Given the description of an element on the screen output the (x, y) to click on. 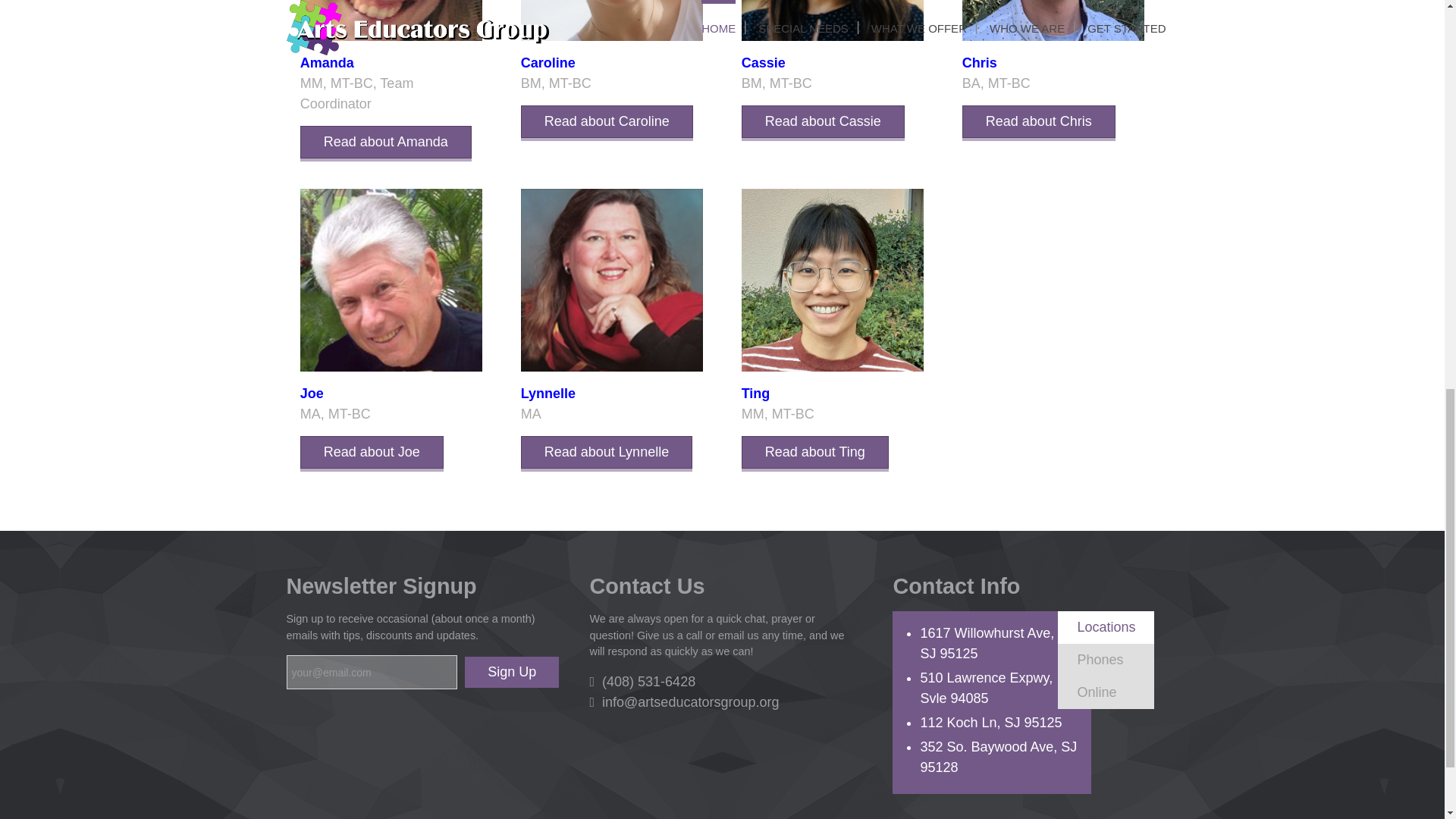
Sign Up (511, 671)
